Given the description of an element on the screen output the (x, y) to click on. 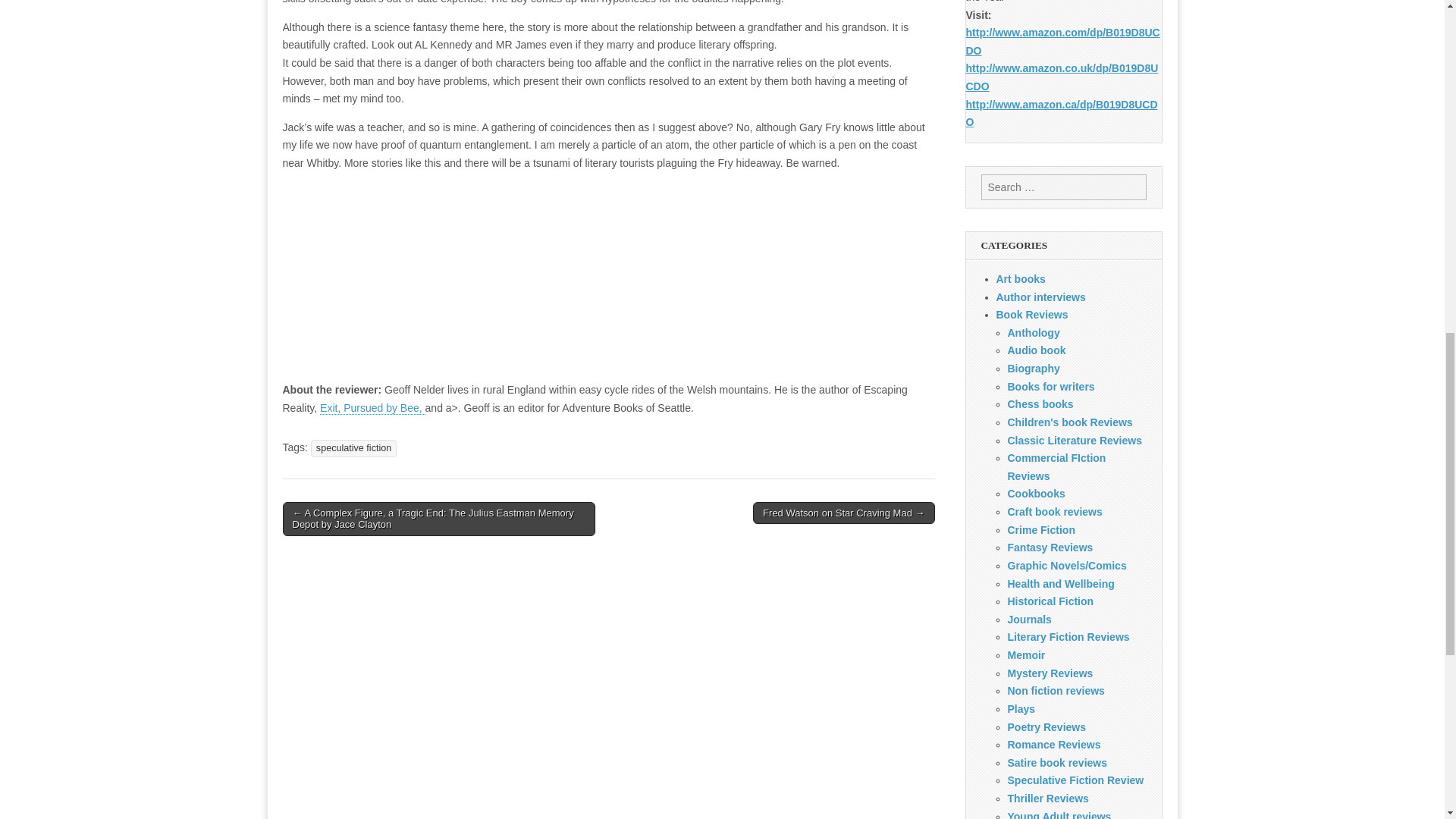
Health and Wellbeing (1060, 583)
Cookbooks (1035, 493)
Biography (1033, 368)
Classic Literature Reviews (1074, 440)
Children's book Reviews (1069, 422)
Art books (1020, 278)
Fantasy Reviews (1050, 547)
Historical Fiction (1050, 601)
speculative fiction (353, 448)
Author interviews (1040, 297)
Commercial FIction Reviews (1056, 467)
Crime Fiction (1040, 530)
Audio book (1036, 349)
Chess books (1040, 404)
Exit, Pursued by Bee,  (372, 408)
